Given the description of an element on the screen output the (x, y) to click on. 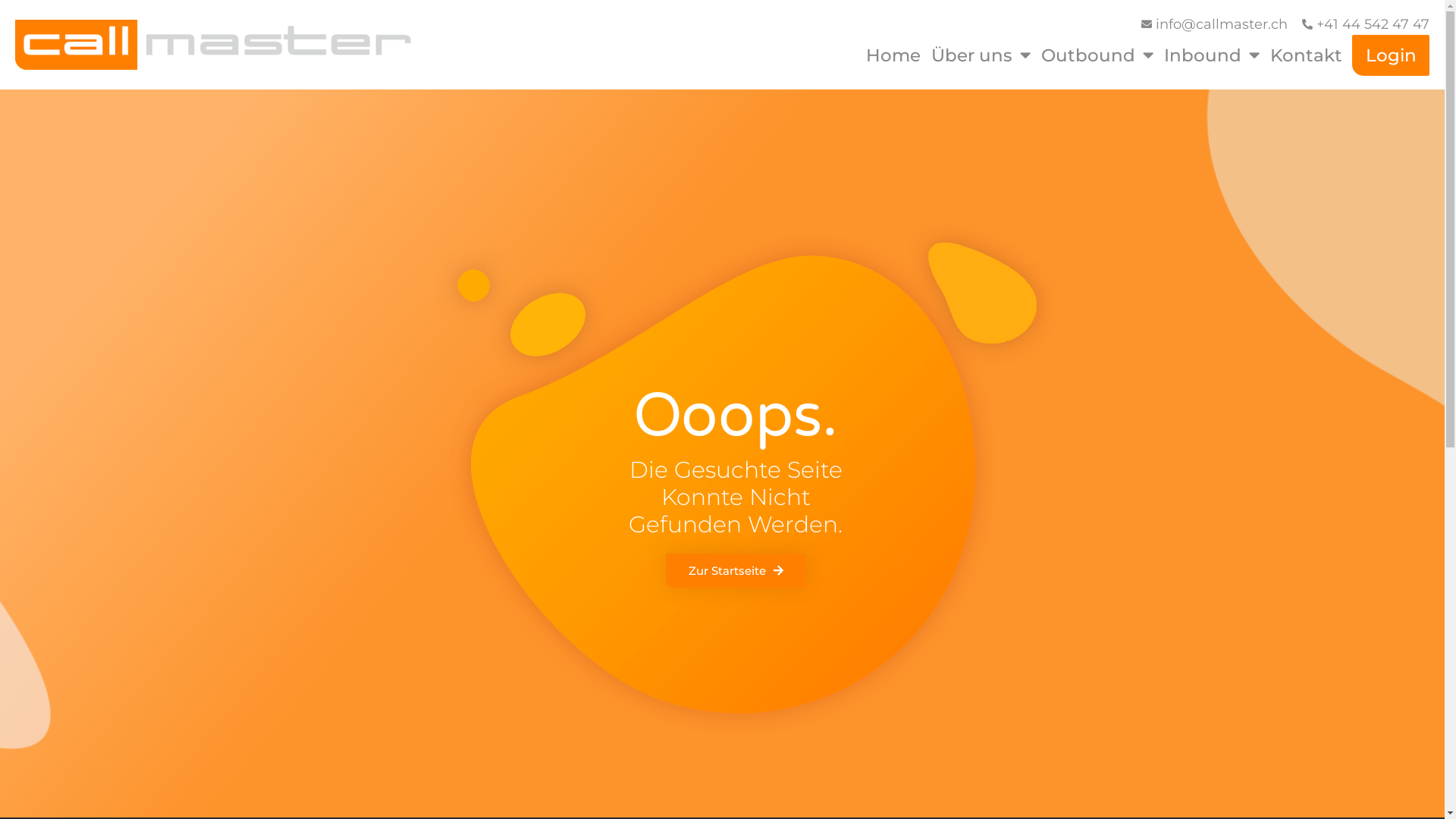
+41 44 542 47 47 Element type: text (1364, 24)
Home Element type: text (892, 54)
Outbound Element type: text (1096, 54)
Inbound Element type: text (1211, 54)
Login Element type: text (1390, 54)
Kontakt Element type: text (1305, 54)
Zur Startseite Element type: text (735, 570)
info@callmaster.ch Element type: text (1212, 24)
